Given the description of an element on the screen output the (x, y) to click on. 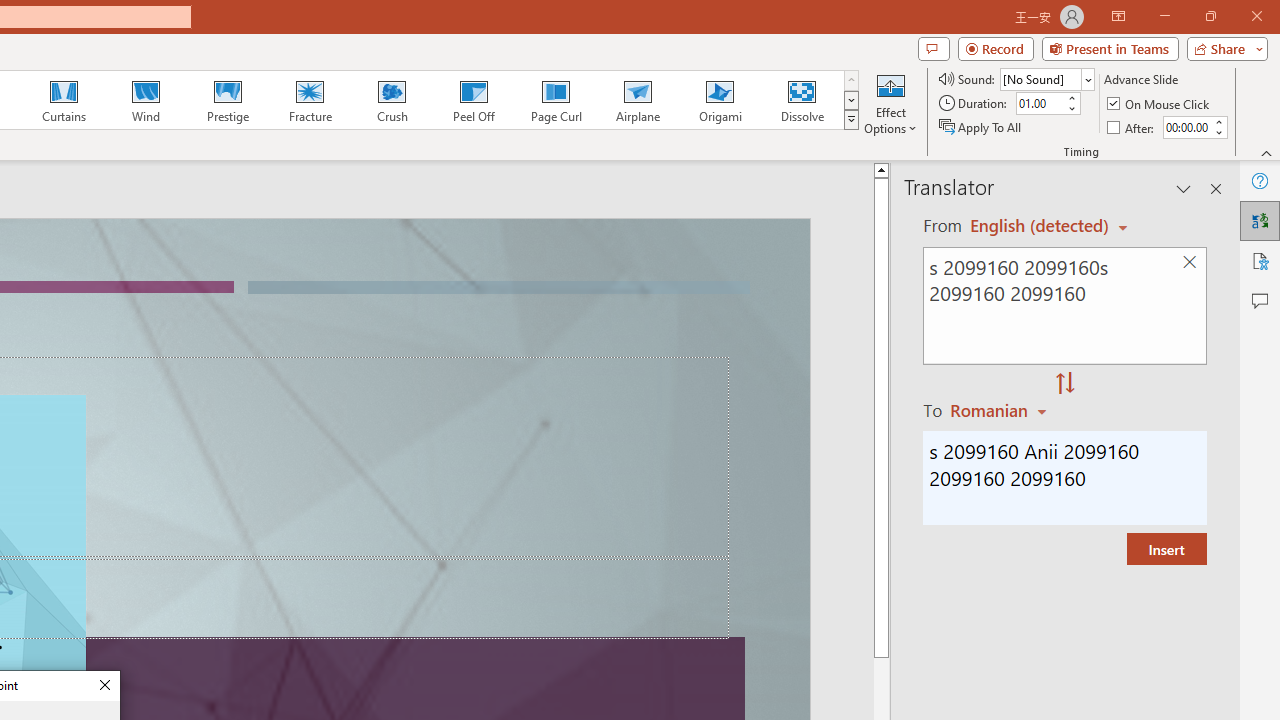
Romanian (1001, 409)
Czech (detected) (1039, 225)
Sound (1046, 78)
After (1186, 127)
Fracture (309, 100)
Curtains (63, 100)
Prestige (227, 100)
Airplane (637, 100)
